Given the description of an element on the screen output the (x, y) to click on. 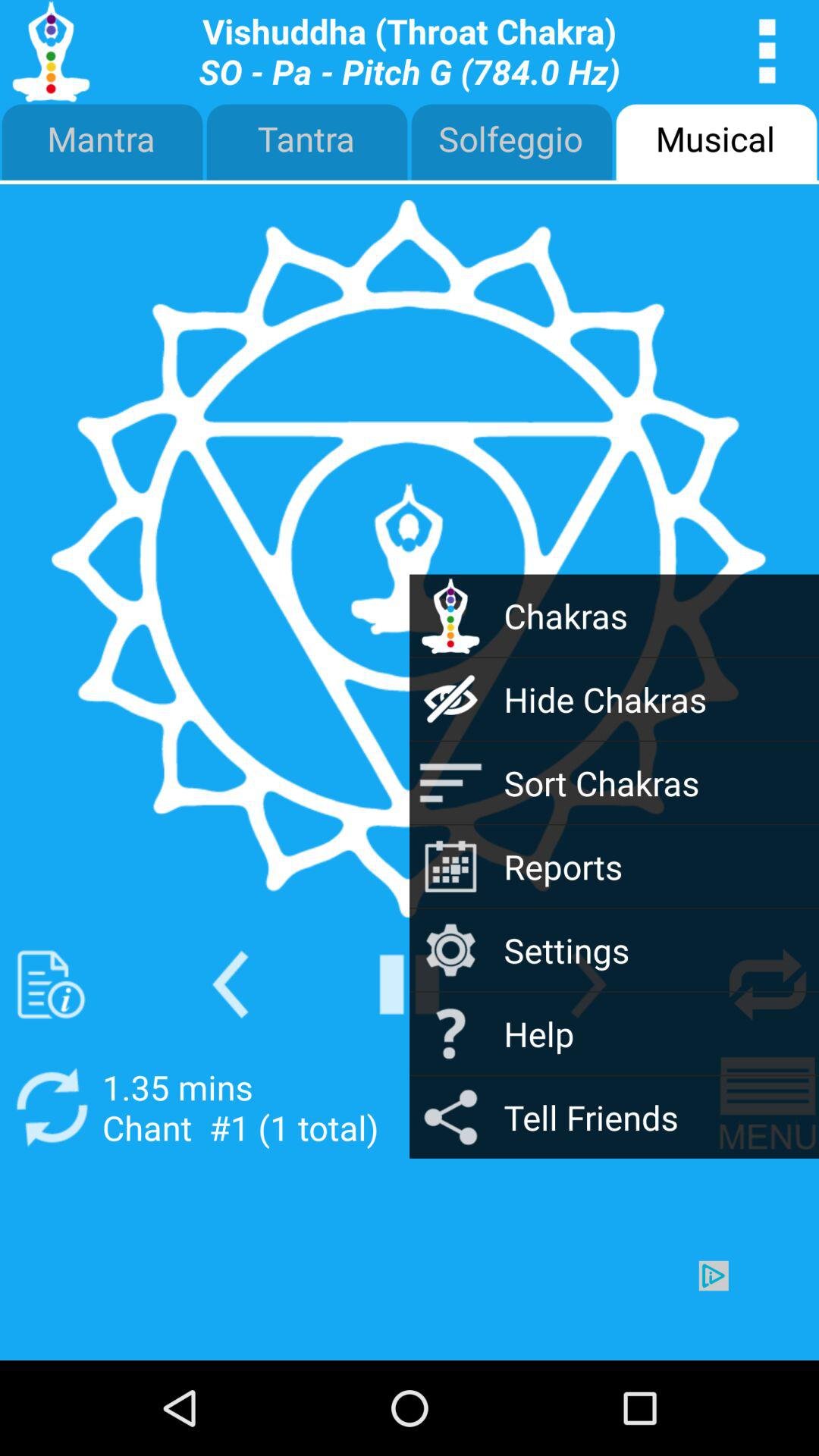
information (51, 984)
